Given the description of an element on the screen output the (x, y) to click on. 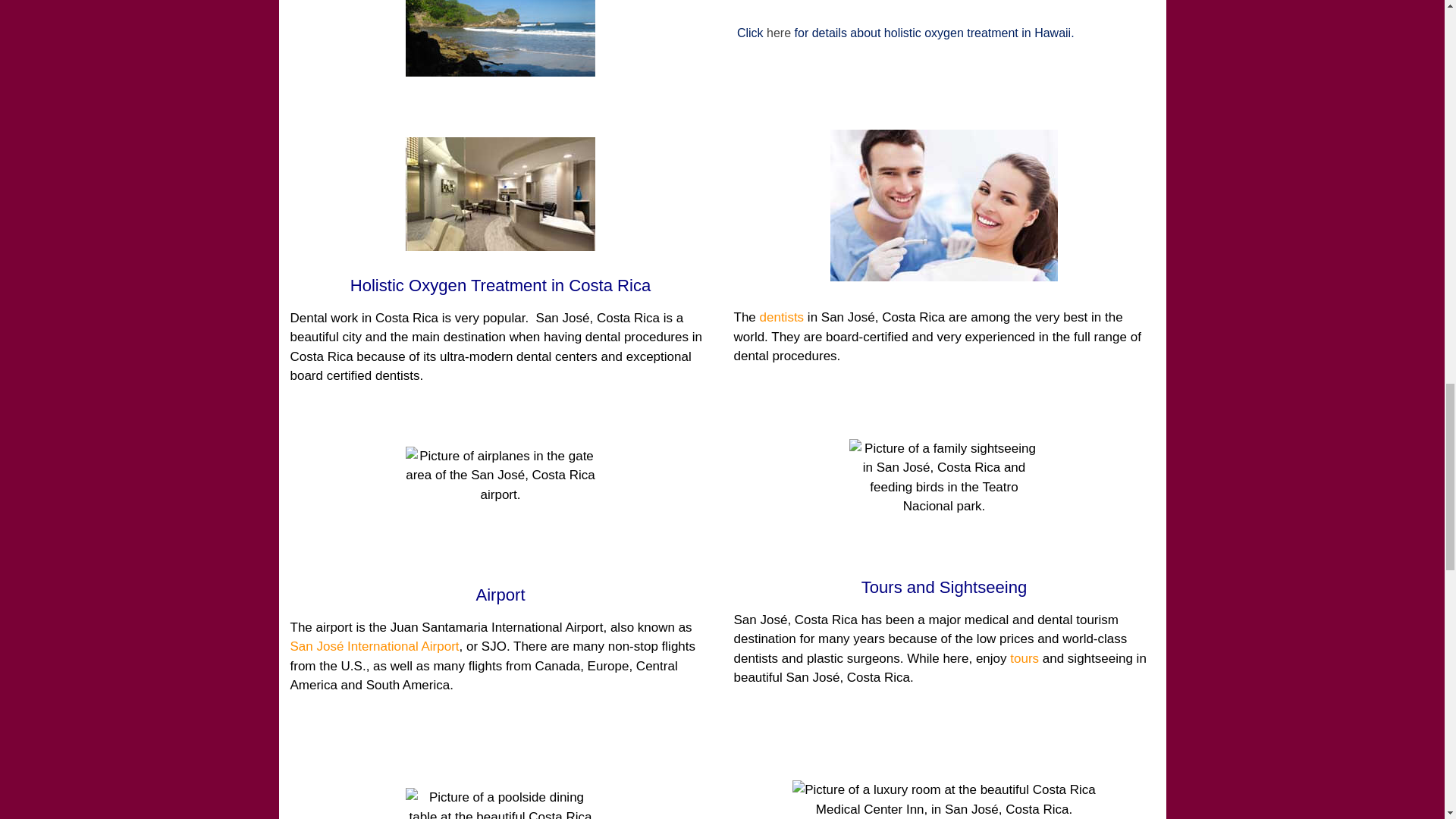
city-tour (943, 495)
packages-picture (500, 38)
dentists (782, 317)
dentist-and-patient (943, 205)
dental-office (500, 193)
restaurant-and-pool (500, 803)
junior-suite-bedroom (944, 799)
san-jose-airport (500, 503)
tours (1024, 658)
here (778, 32)
